Given the description of an element on the screen output the (x, y) to click on. 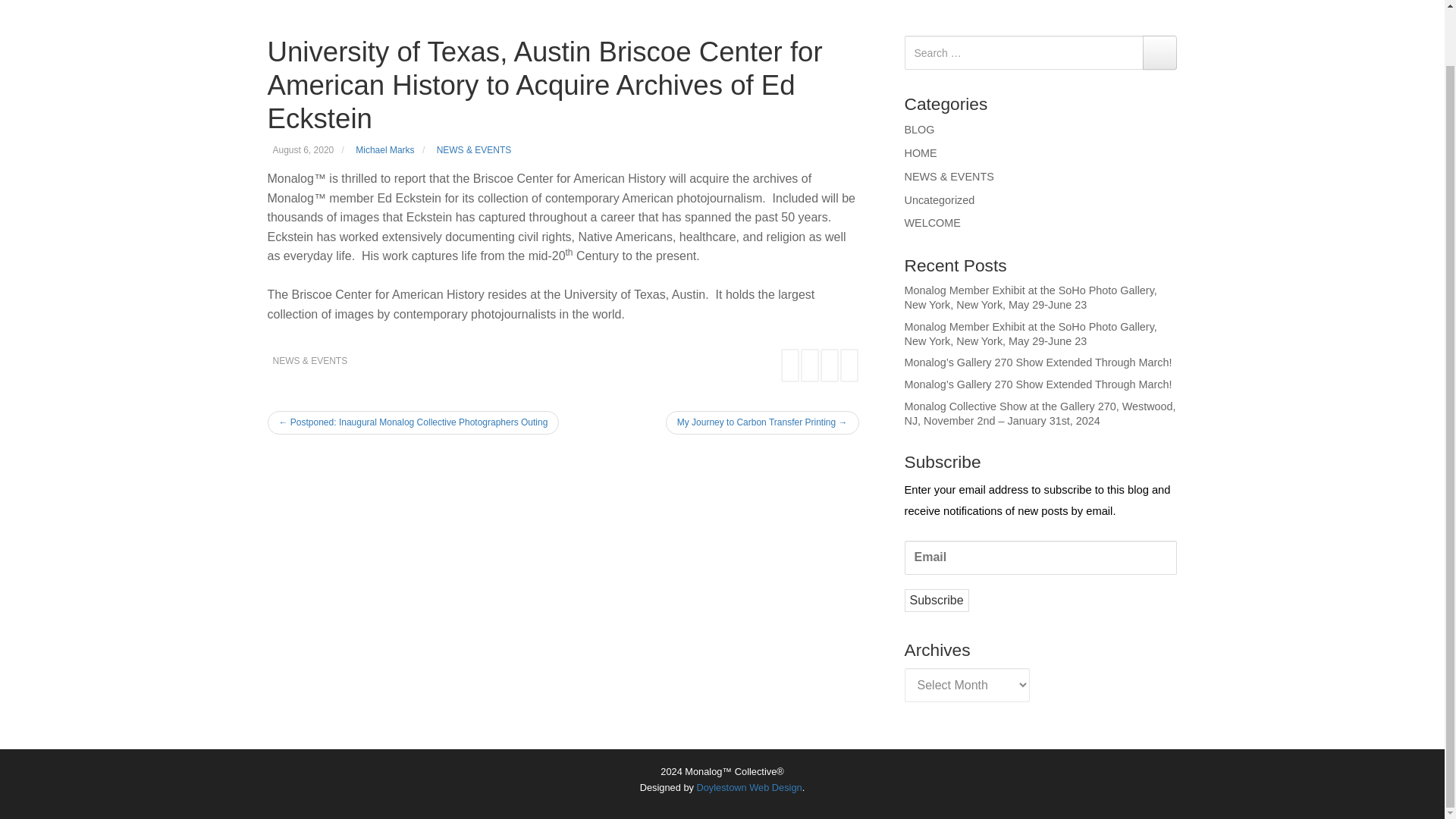
BLOG (919, 129)
Subscribe (936, 599)
Uncategorized (939, 200)
HOME (920, 152)
View all posts by Michael Marks (384, 149)
Michael Marks (384, 149)
WELCOME (931, 223)
Website Design by Doylestown Web Design (748, 787)
